Given the description of an element on the screen output the (x, y) to click on. 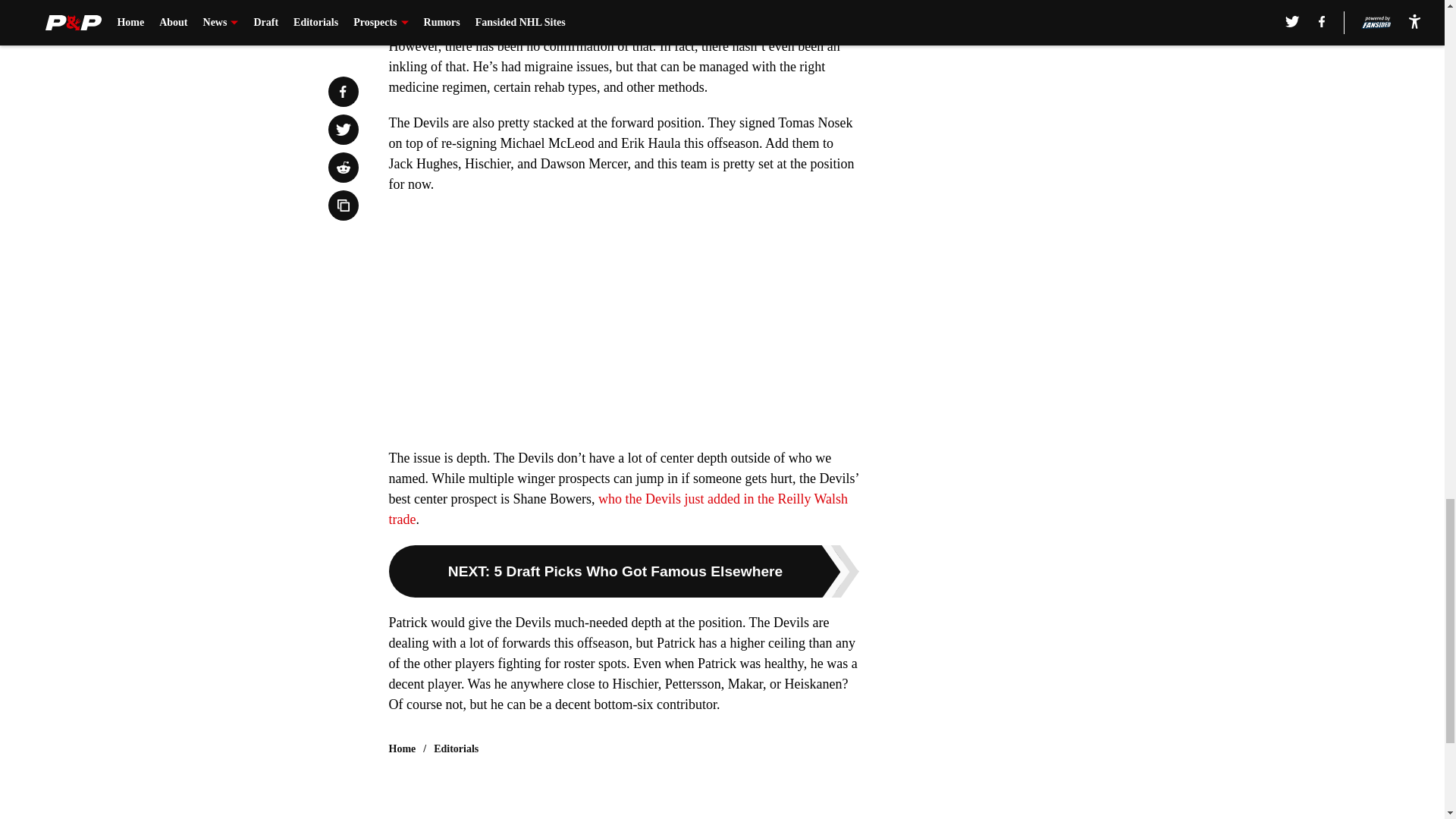
who the Devils just added in the Reilly Walsh trade (617, 509)
Editorials (456, 749)
Home (401, 749)
NEXT: 5 Draft Picks Who Got Famous Elsewhere (623, 571)
